Given the description of an element on the screen output the (x, y) to click on. 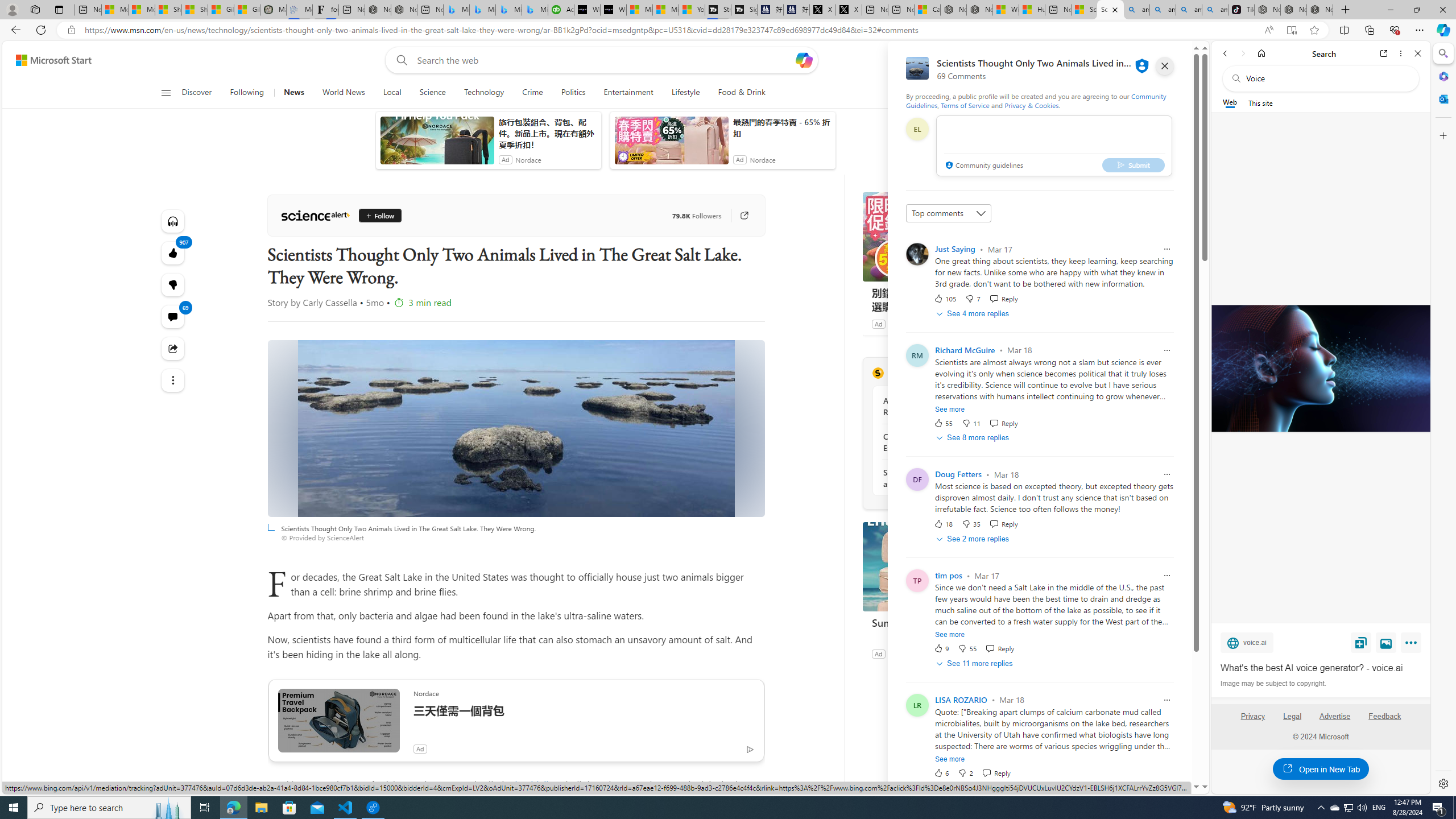
News (293, 92)
Save (1361, 642)
Skip to footer (46, 59)
55 Like (942, 422)
Technology (483, 92)
ScienceAlert (877, 372)
voice.ai (1247, 642)
Nordace Siena Pro 15 Backpack (1293, 9)
close (1164, 65)
Nordace - Best Sellers (1267, 9)
amazon - Search (1162, 9)
See 4 more replies (973, 313)
Shanghai, China weather forecast | Microsoft Weather (194, 9)
